Given the description of an element on the screen output the (x, y) to click on. 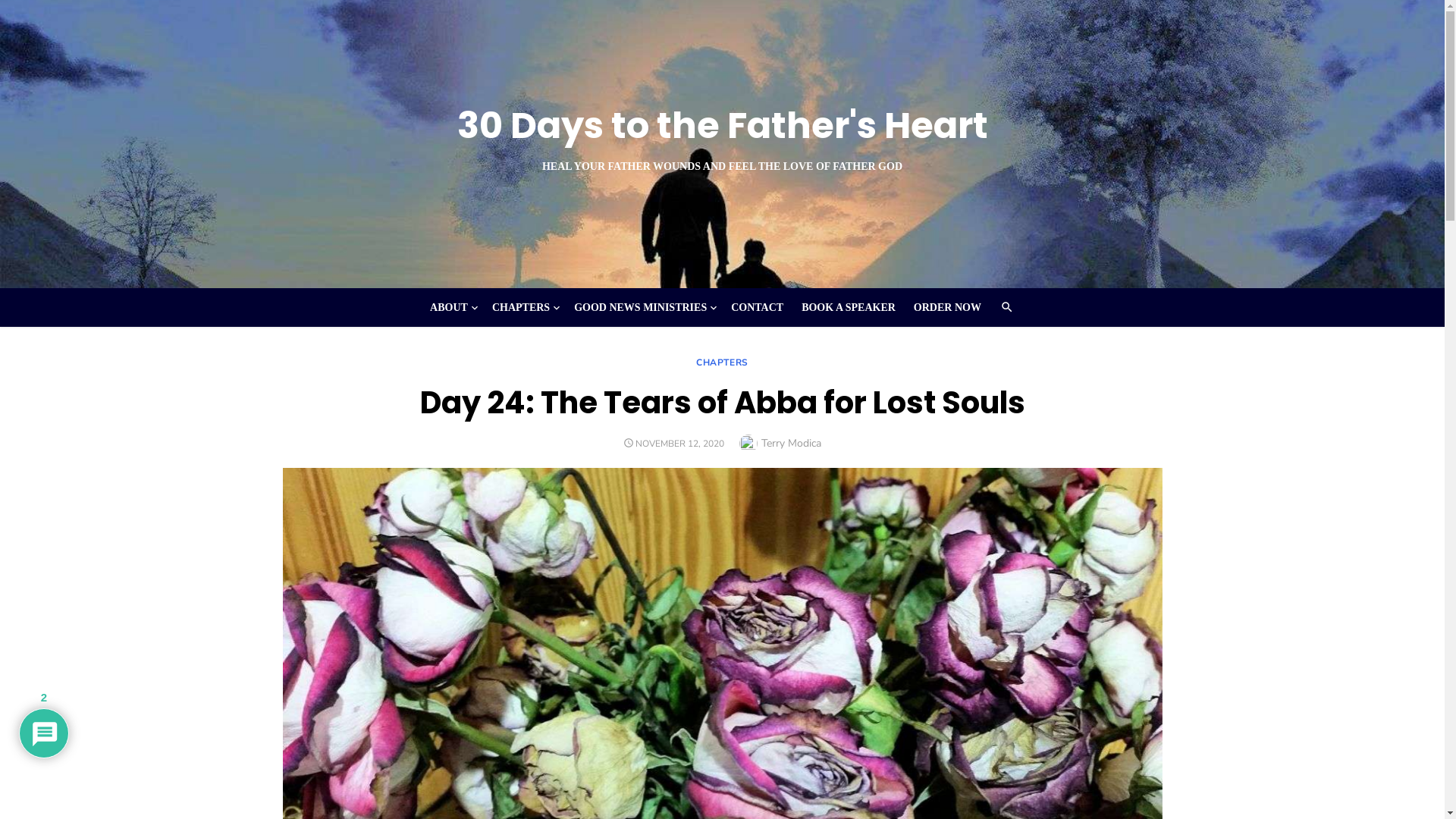
BOOK A SPEAKER Element type: text (848, 307)
ORDER NOW Element type: text (947, 307)
NOVEMBER 12, 2020 Element type: text (679, 442)
GOOD NEWS MINISTRIES Element type: text (643, 307)
Terry Modica Element type: text (791, 442)
CHAPTERS Element type: text (722, 362)
ABOUT Element type: text (451, 307)
CONTACT Element type: text (756, 307)
CHAPTERS Element type: text (523, 307)
30 Days to the Father's Heart Element type: text (721, 125)
